Given the description of an element on the screen output the (x, y) to click on. 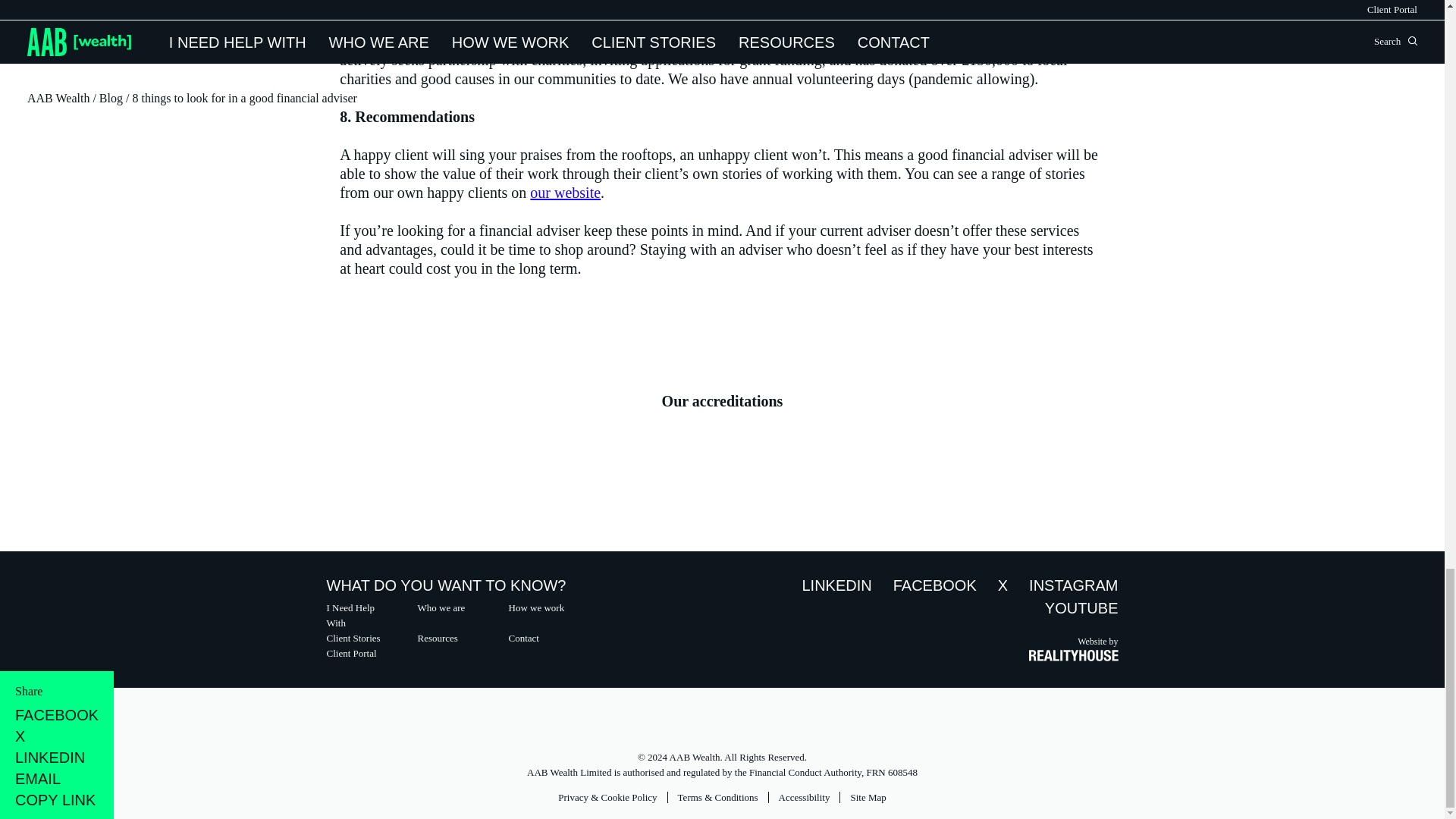
Client Stories (360, 638)
How we work (542, 607)
I Need Help With (360, 615)
Who we are (450, 607)
Resources (450, 638)
LINKEDIN (836, 585)
Client Portal (360, 653)
our website (564, 192)
Contact (542, 638)
